Given the description of an element on the screen output the (x, y) to click on. 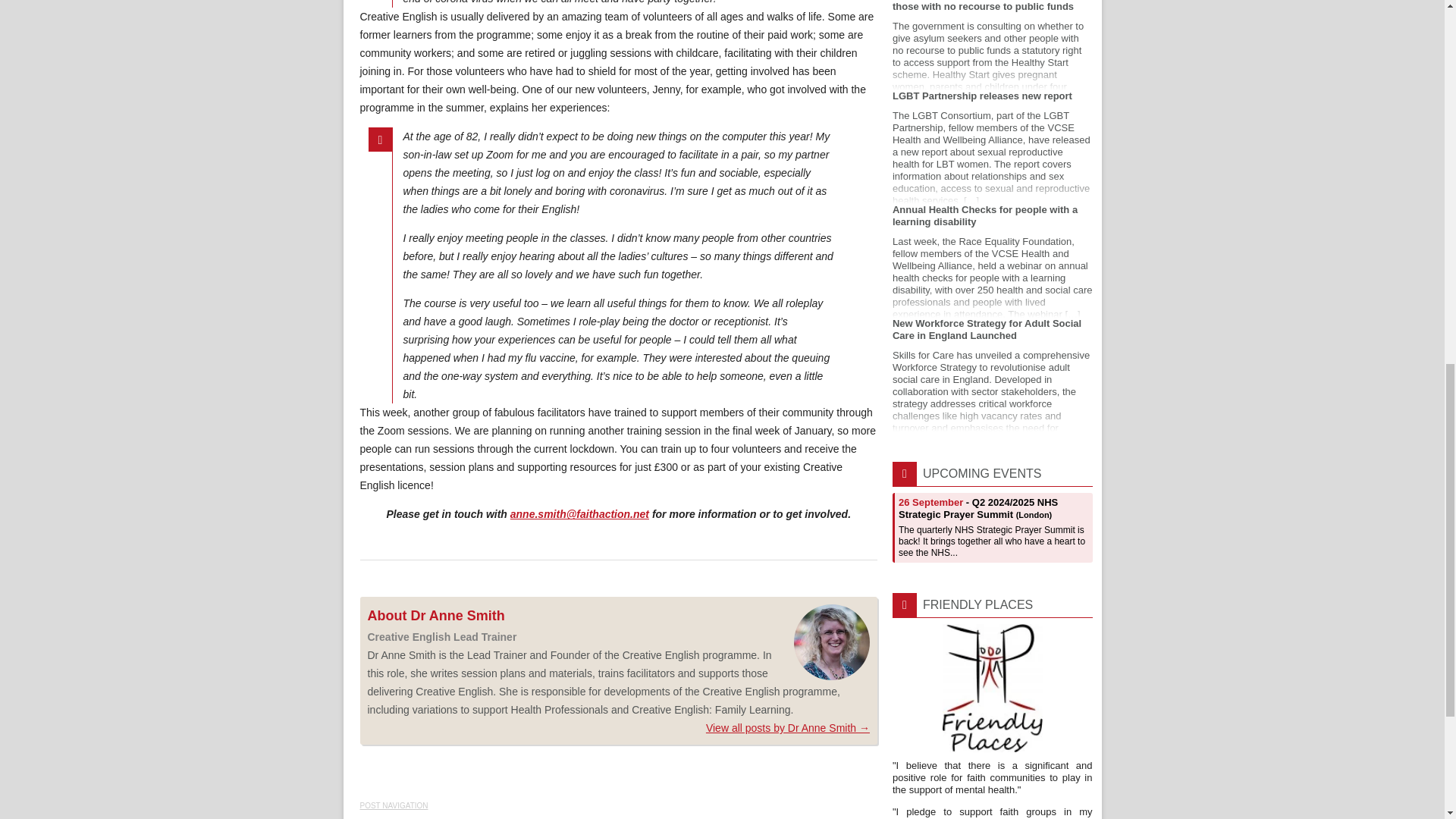
LGBT Partnership releases new report (992, 146)
Annual Health Checks for people with a learning disability (992, 260)
